Given the description of an element on the screen output the (x, y) to click on. 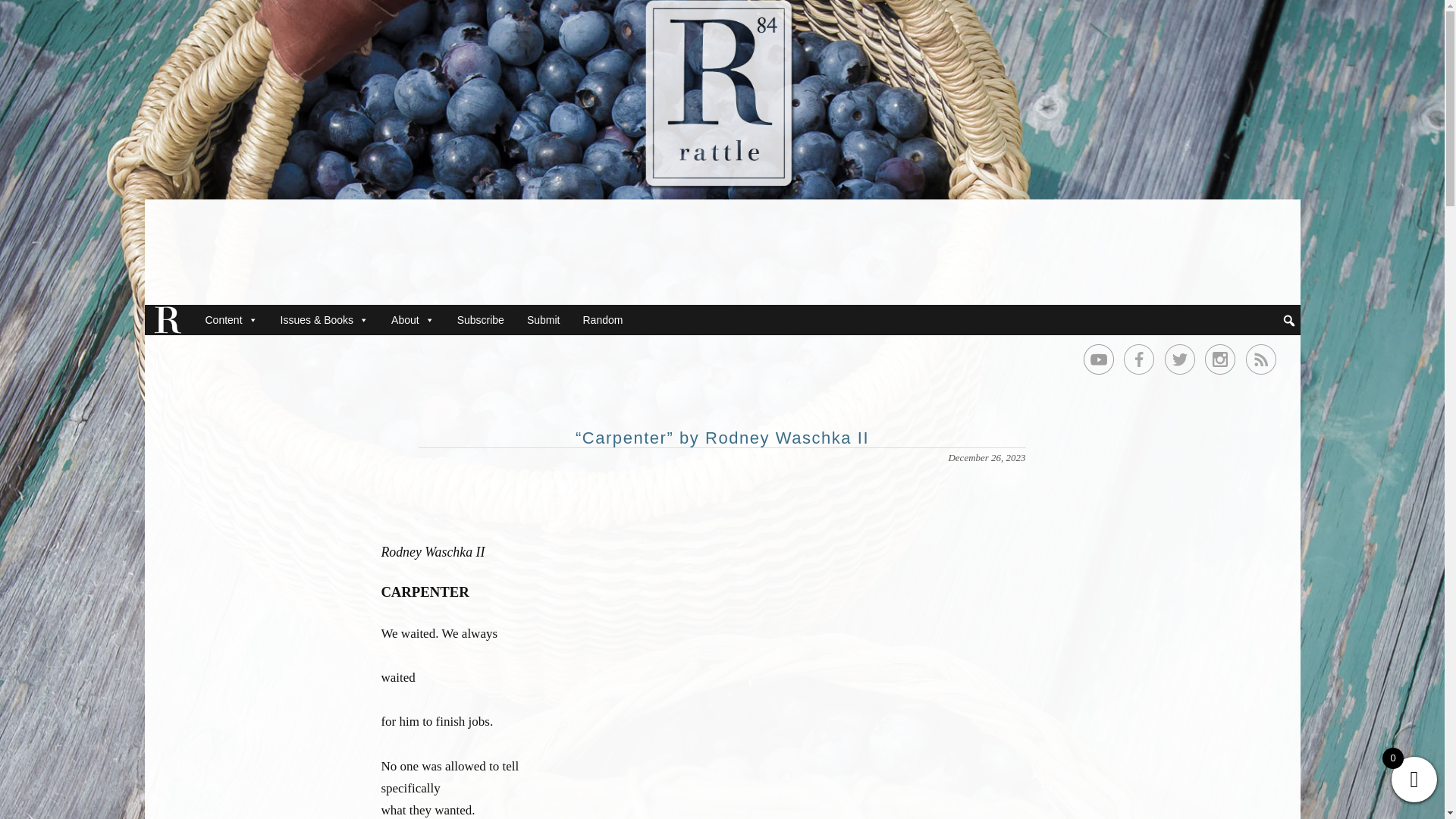
Rattle: Poetry (809, 274)
Skip to content (194, 316)
Rattle: Poetry (809, 274)
Content (230, 319)
Skip to content (194, 316)
